Given the description of an element on the screen output the (x, y) to click on. 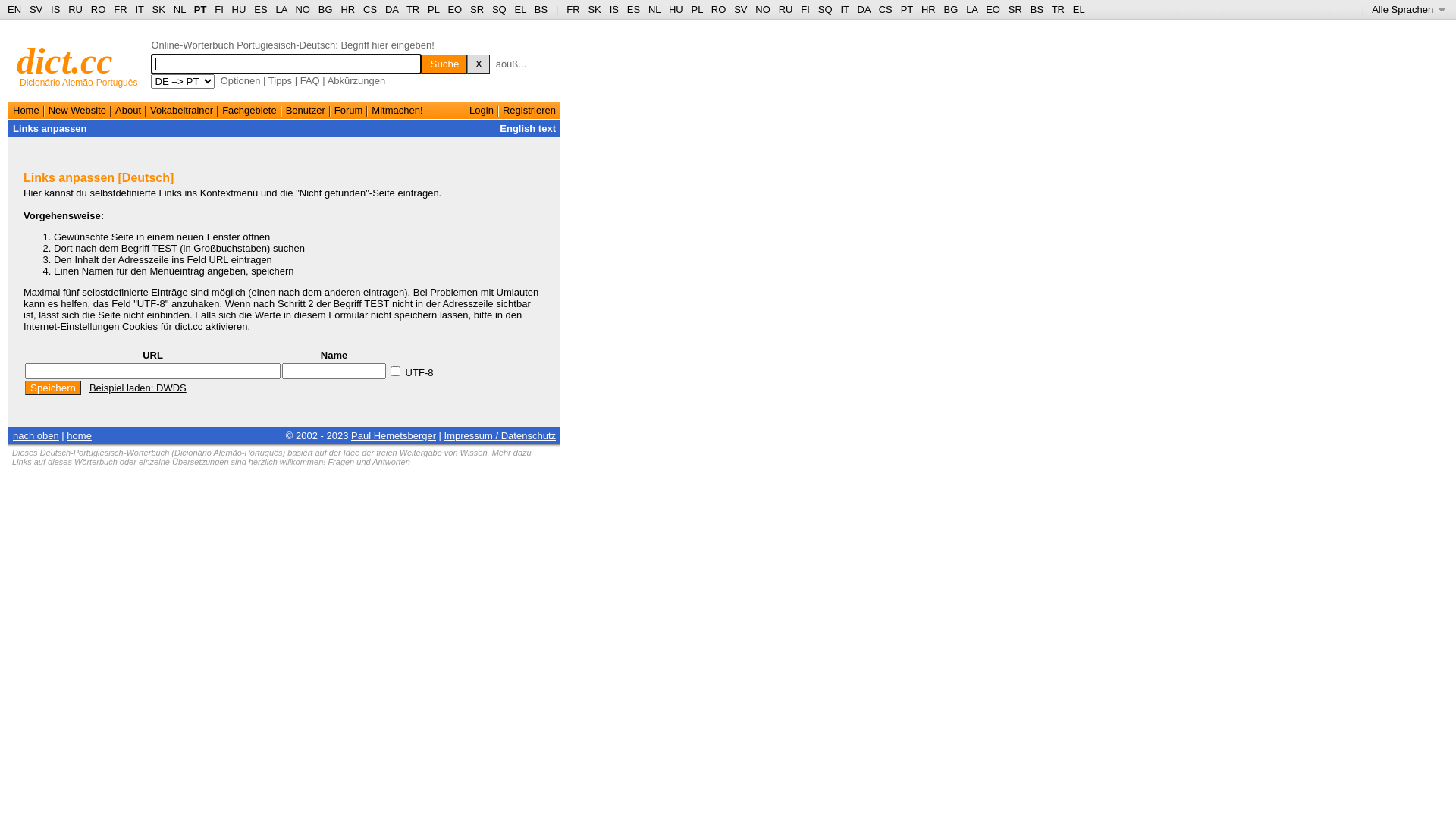
FR Element type: text (572, 9)
TR Element type: text (1057, 9)
Forum Element type: text (348, 110)
Optionen Element type: text (240, 80)
NL Element type: text (654, 9)
Fachgebiete Element type: text (249, 110)
Speichern Element type: text (53, 387)
ES Element type: text (633, 9)
BG Element type: text (950, 9)
Home Element type: text (25, 110)
SR Element type: text (476, 9)
IS Element type: text (54, 9)
HR Element type: text (347, 9)
CS Element type: text (885, 9)
Mitmachen! Element type: text (396, 110)
Tipps Element type: text (279, 80)
dict.cc Element type: text (64, 60)
BS Element type: text (1036, 9)
Mehr dazu Element type: text (511, 452)
Beispiel laden: DWDS Element type: text (137, 387)
SK Element type: text (158, 9)
IT Element type: text (844, 9)
CS Element type: text (369, 9)
RU Element type: text (785, 9)
New Website Element type: text (77, 110)
HU Element type: text (675, 9)
RO Element type: text (98, 9)
FAQ Element type: text (310, 80)
EO Element type: text (454, 9)
Benutzer Element type: text (305, 110)
HR Element type: text (928, 9)
Login Element type: text (481, 110)
Registrieren Element type: text (528, 110)
About Element type: text (128, 110)
RO Element type: text (718, 9)
Suche Element type: text (444, 63)
DA Element type: text (391, 9)
DA Element type: text (863, 9)
NL Element type: text (179, 9)
SV Element type: text (35, 9)
RU Element type: text (75, 9)
SQ Element type: text (825, 9)
SR Element type: text (1015, 9)
home Element type: text (78, 434)
Fragen und Antworten Element type: text (368, 461)
X Element type: text (478, 63)
EL Element type: text (520, 9)
PL Element type: text (433, 9)
NO Element type: text (762, 9)
PT Element type: text (906, 9)
nach oben Element type: text (35, 434)
English text Element type: text (527, 128)
FR Element type: text (119, 9)
EN Element type: text (14, 9)
LA Element type: text (971, 9)
FI Element type: text (218, 9)
PL Element type: text (696, 9)
SV Element type: text (740, 9)
SQ Element type: text (499, 9)
SK Element type: text (593, 9)
Paul Hemetsberger Element type: text (393, 434)
ES Element type: text (260, 9)
PT Element type: text (200, 9)
IT Element type: text (138, 9)
HU Element type: text (239, 9)
FI Element type: text (804, 9)
EL Element type: text (1079, 9)
NO Element type: text (302, 9)
BG Element type: text (325, 9)
Vokabeltrainer Element type: text (181, 110)
Alle Sprachen  Element type: text (1408, 9)
Impressum / Datenschutz Element type: text (499, 434)
EO Element type: text (992, 9)
BS Element type: text (540, 9)
TR Element type: text (412, 9)
LA Element type: text (280, 9)
IS Element type: text (613, 9)
